Given the description of an element on the screen output the (x, y) to click on. 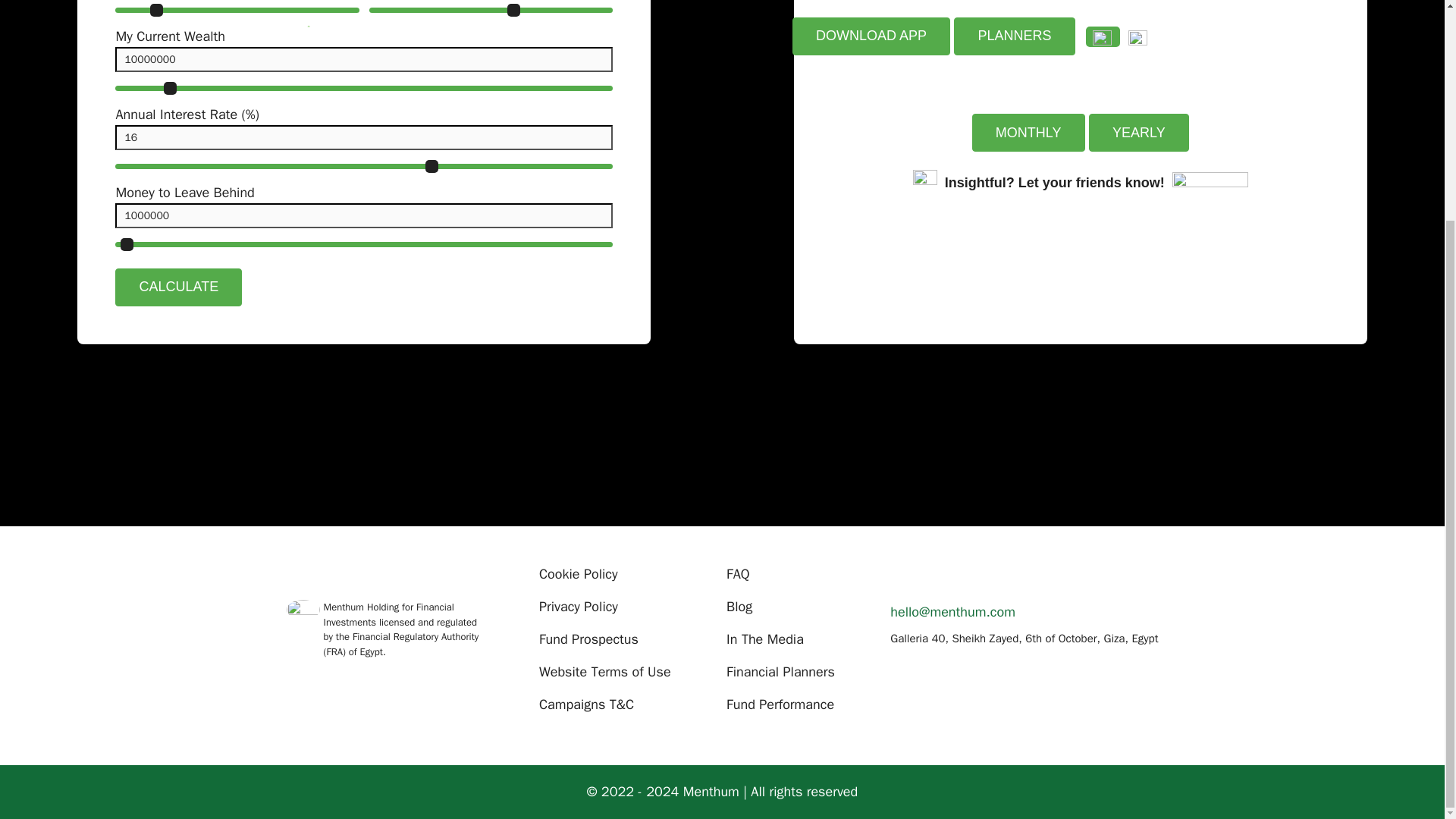
10000000 (363, 59)
CALCULATE (178, 287)
In The Media (764, 638)
CALCULATE (178, 286)
Blog (739, 606)
Financial Planners (780, 671)
1000000 (363, 215)
1000000 (363, 243)
35 (236, 9)
Facebook (903, 577)
